Given the description of an element on the screen output the (x, y) to click on. 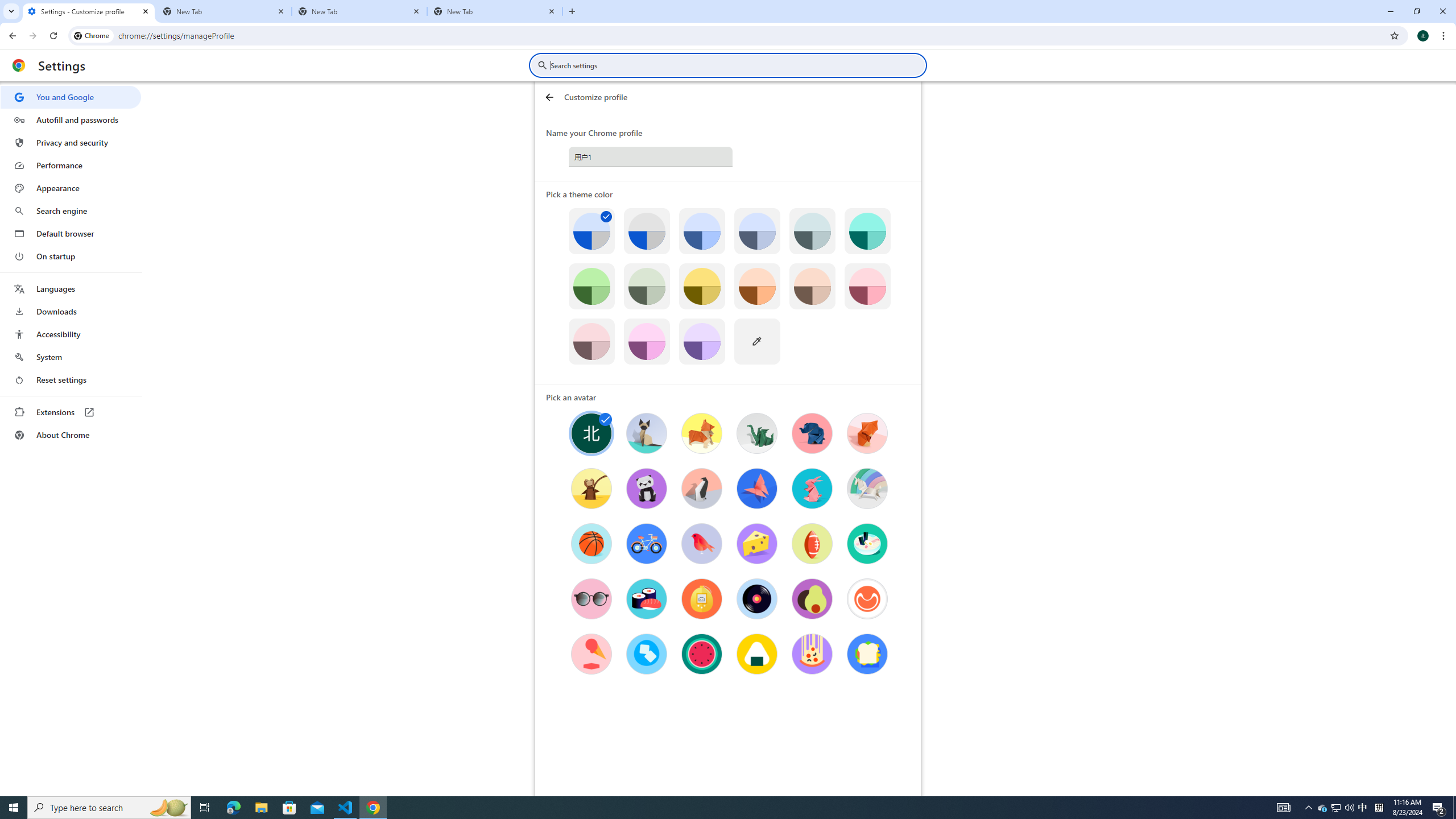
About Chrome (70, 434)
Default browser (70, 233)
Extensions (70, 412)
